Given the description of an element on the screen output the (x, y) to click on. 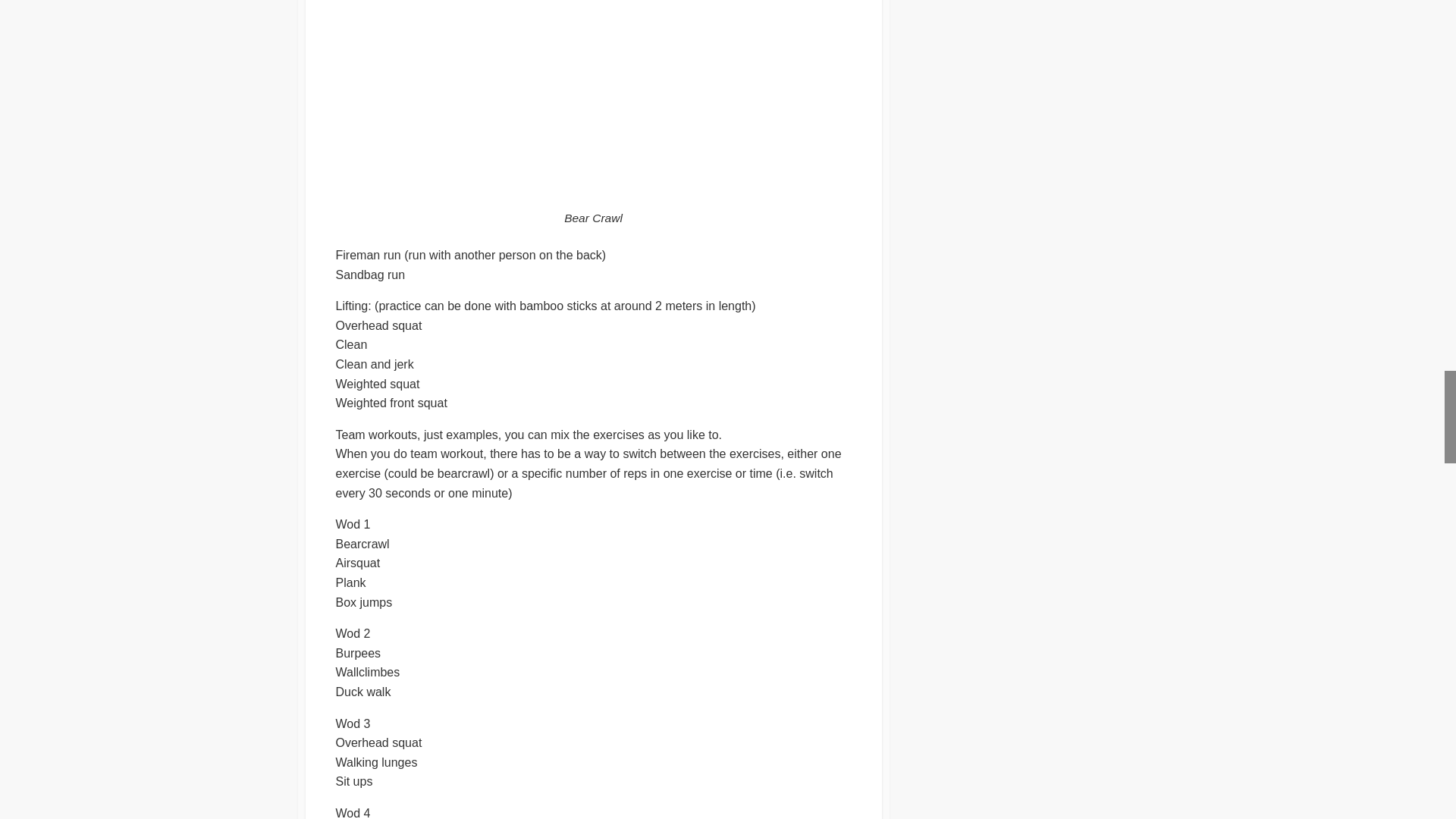
Bear crawl (593, 102)
